Given the description of an element on the screen output the (x, y) to click on. 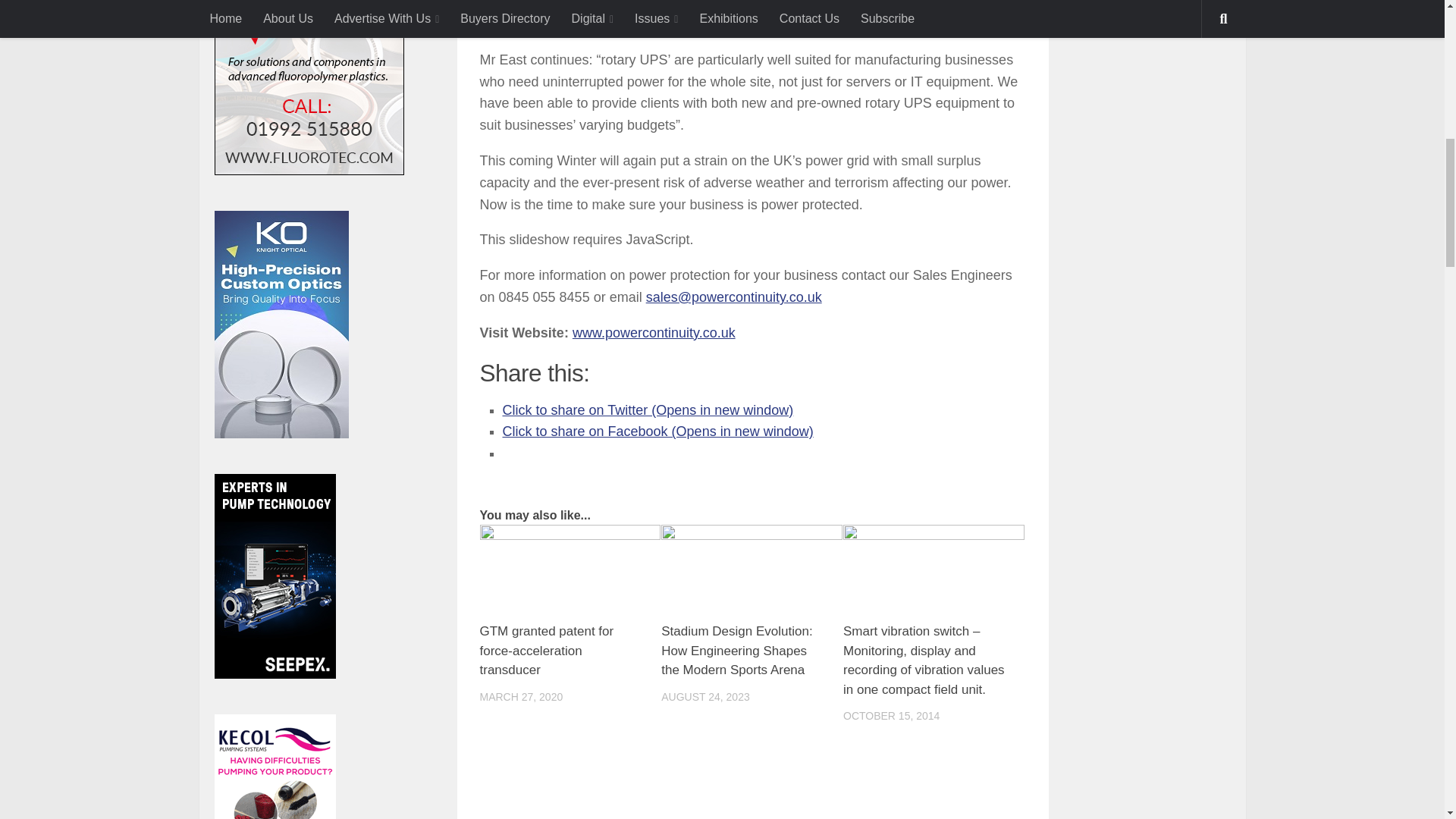
Click to share on Facebook (657, 431)
Click to share on Twitter (647, 409)
